Given the description of an element on the screen output the (x, y) to click on. 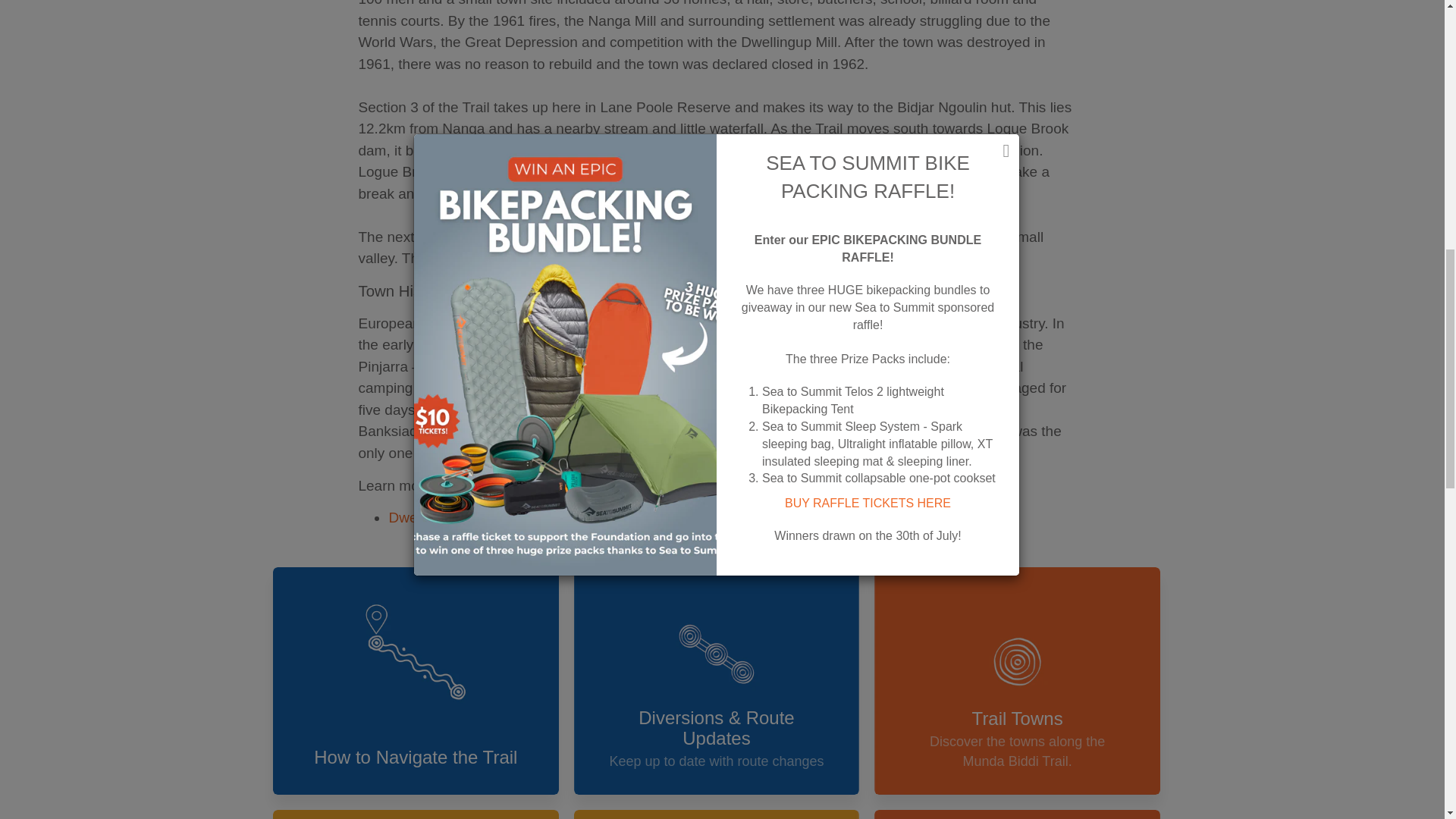
How to Navigate the Trail (416, 680)
E2E Trips (716, 814)
Day Trips (1017, 814)
Paper Maps (416, 814)
Trail Towns (1017, 680)
